Given the description of an element on the screen output the (x, y) to click on. 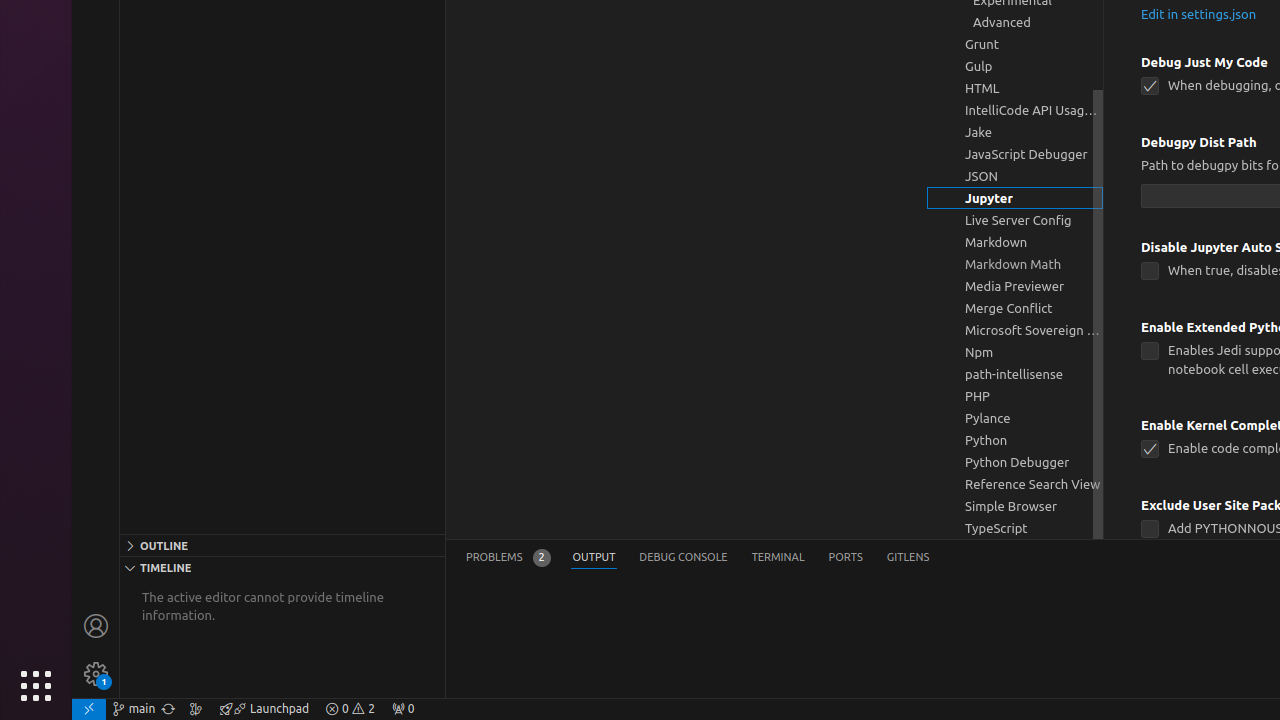
Outline Section Element type: push-button (282, 545)
rocket gitlens-unplug Launchpad, GitLens Launchpad ᴘʀᴇᴠɪᴇᴡ    &mdash;    [$(question)](command:gitlens.launchpad.indicator.action?%22info%22 "What is this?") [$(gear)](command:workbench.action.openSettings?%22gitlens.launchpad%22 "Settings")  |  [$(circle-slash) Hide](command:gitlens.launchpad.indicator.action?%22hide%22 "Hide") --- [Launchpad](command:gitlens.launchpad.indicator.action?%info%22 "Learn about Launchpad") organizes your pull requests into actionable groups to help you focus and keep your team unblocked. It's always accessible using the `GitLens: Open Launchpad` command from the Command Palette. --- [Connect an integration](command:gitlens.showLaunchpad?%7B%22source%22%3A%22launchpad-indicator%22%7D "Connect an integration") to get started. Element type: push-button (264, 709)
Pylance, group Element type: tree-item (1015, 418)
jupyter.debugJustMyCode Element type: check-box (1150, 86)
jupyter.excludeUserSitePackages Element type: check-box (1150, 529)
